Given the description of an element on the screen output the (x, y) to click on. 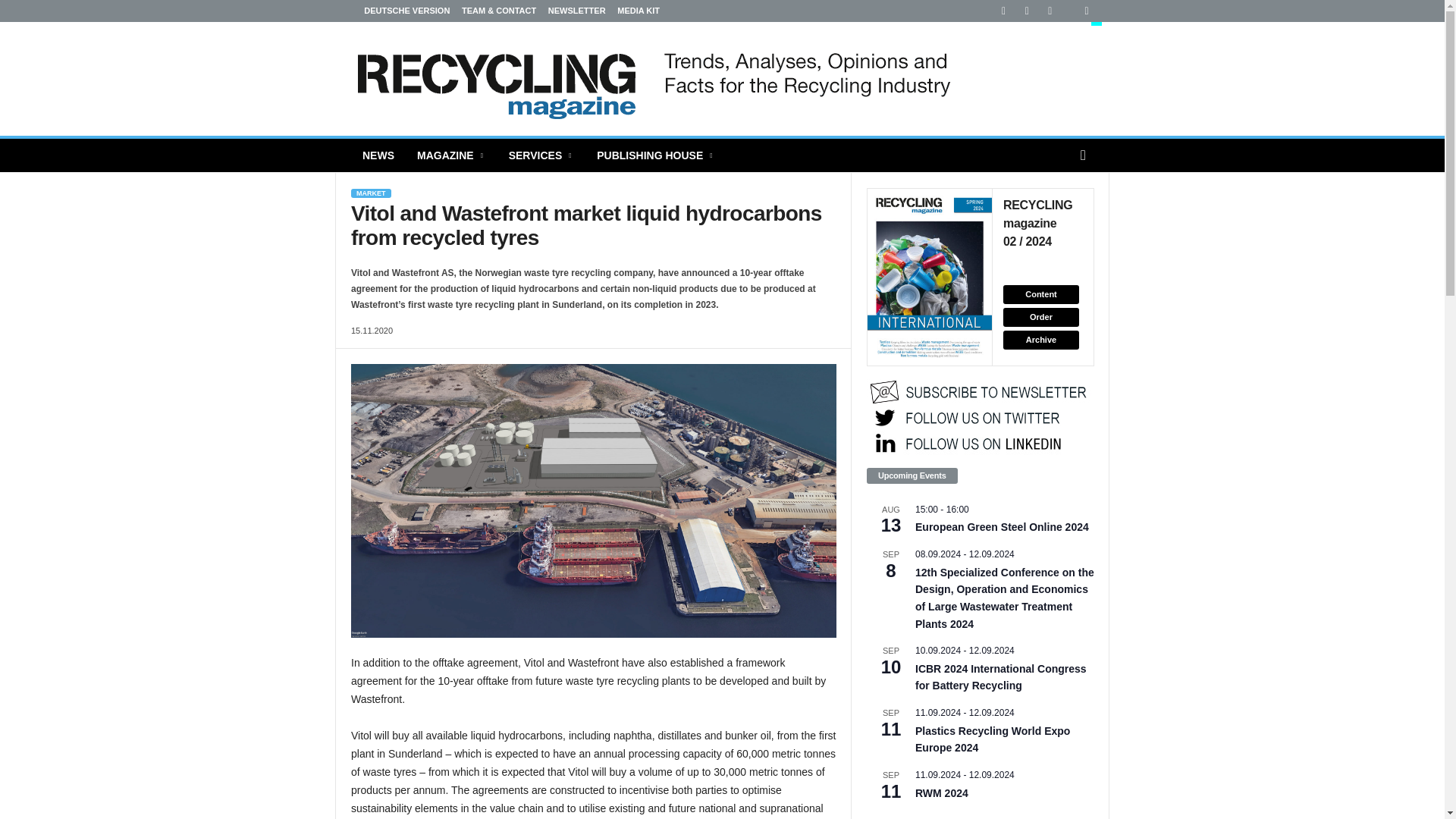
NEWSLETTER (576, 10)
Linkedin (997, 11)
MEDIA KIT (638, 10)
Wastefront Site 3D Render (592, 500)
DEUTSCHE VERSION (391, 10)
Twitter (1080, 11)
